Given the description of an element on the screen output the (x, y) to click on. 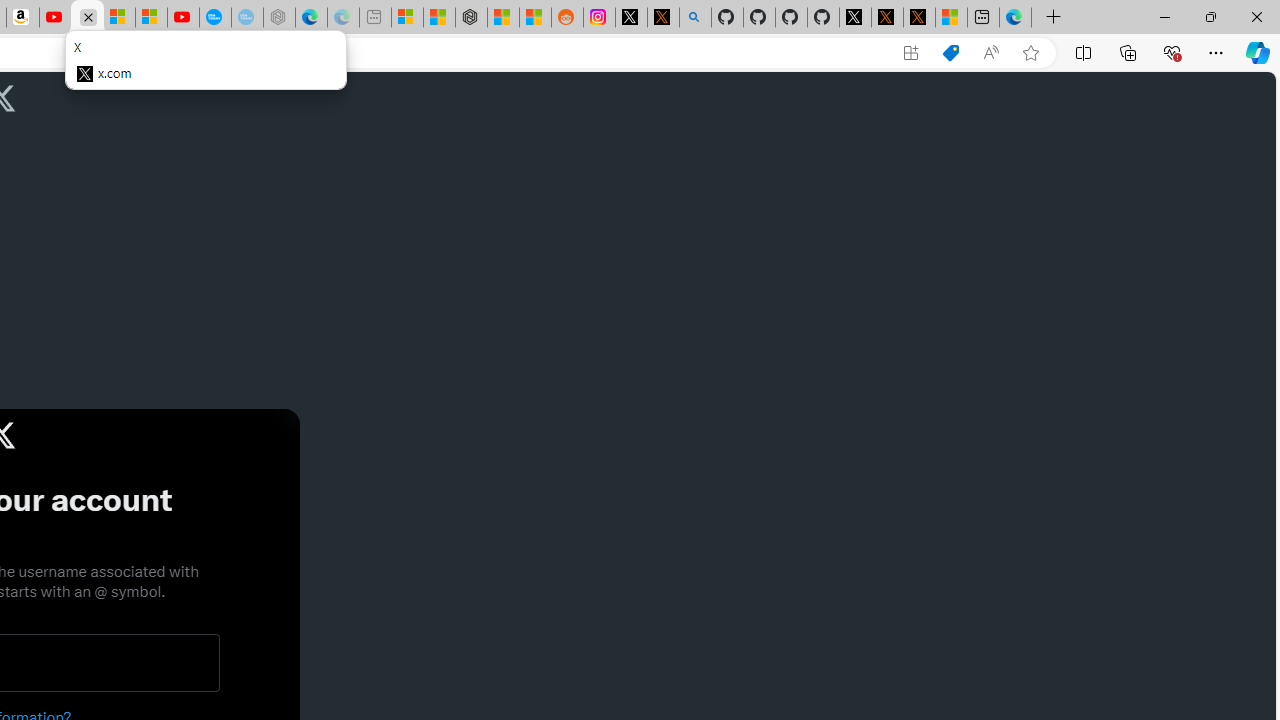
App available. Install X (910, 53)
Welcome to Microsoft Edge (1014, 17)
github - Search (694, 17)
Shanghai, China Weather trends | Microsoft Weather (535, 17)
Opinion: Op-Ed and Commentary - USA TODAY (215, 17)
Microsoft account | Microsoft Account Privacy Settings (407, 17)
